Given the description of an element on the screen output the (x, y) to click on. 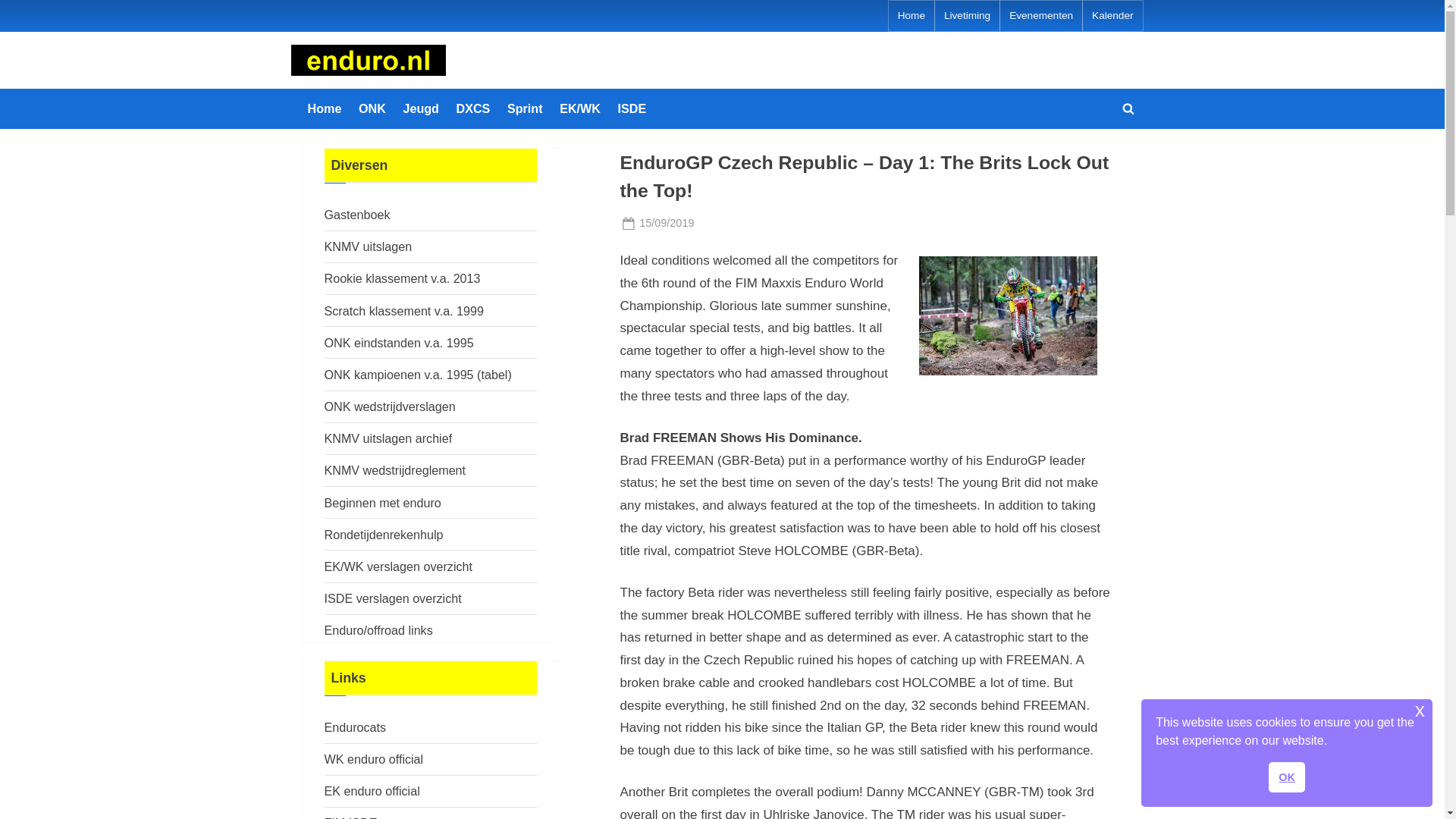
Rookie klassement v.a. 2013 (402, 278)
Evenementen (1041, 15)
DXCS (472, 108)
Home (911, 15)
Jeugd (420, 108)
Sprint (524, 108)
KNMV uitslagen archief (388, 438)
Livetiming (966, 15)
KNMV uitslagen (368, 246)
Home (324, 108)
